Given the description of an element on the screen output the (x, y) to click on. 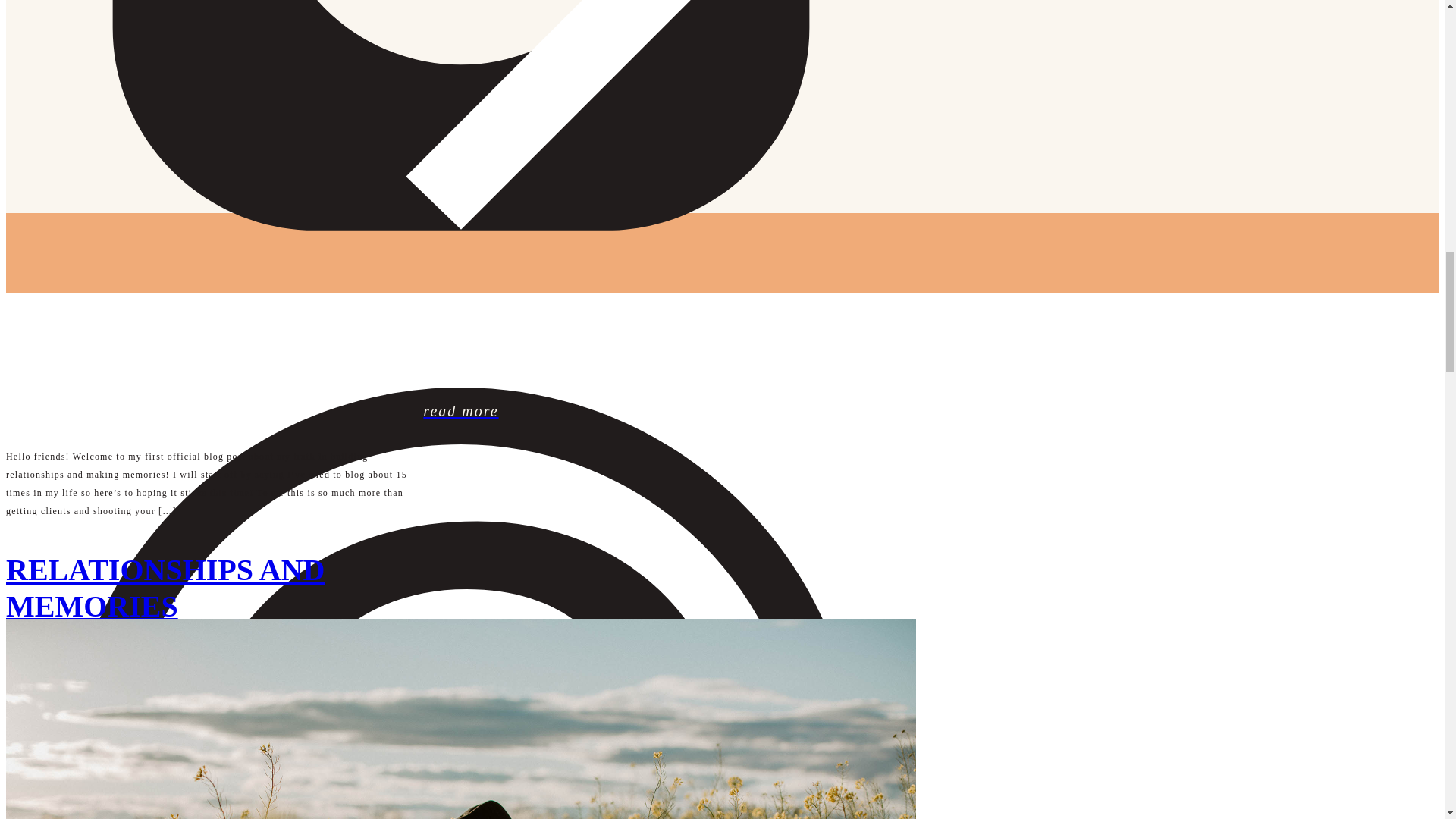
read more (460, 410)
Relationships and Memories (460, 410)
RELATIONSHIPS AND MEMORIES (164, 587)
